Given the description of an element on the screen output the (x, y) to click on. 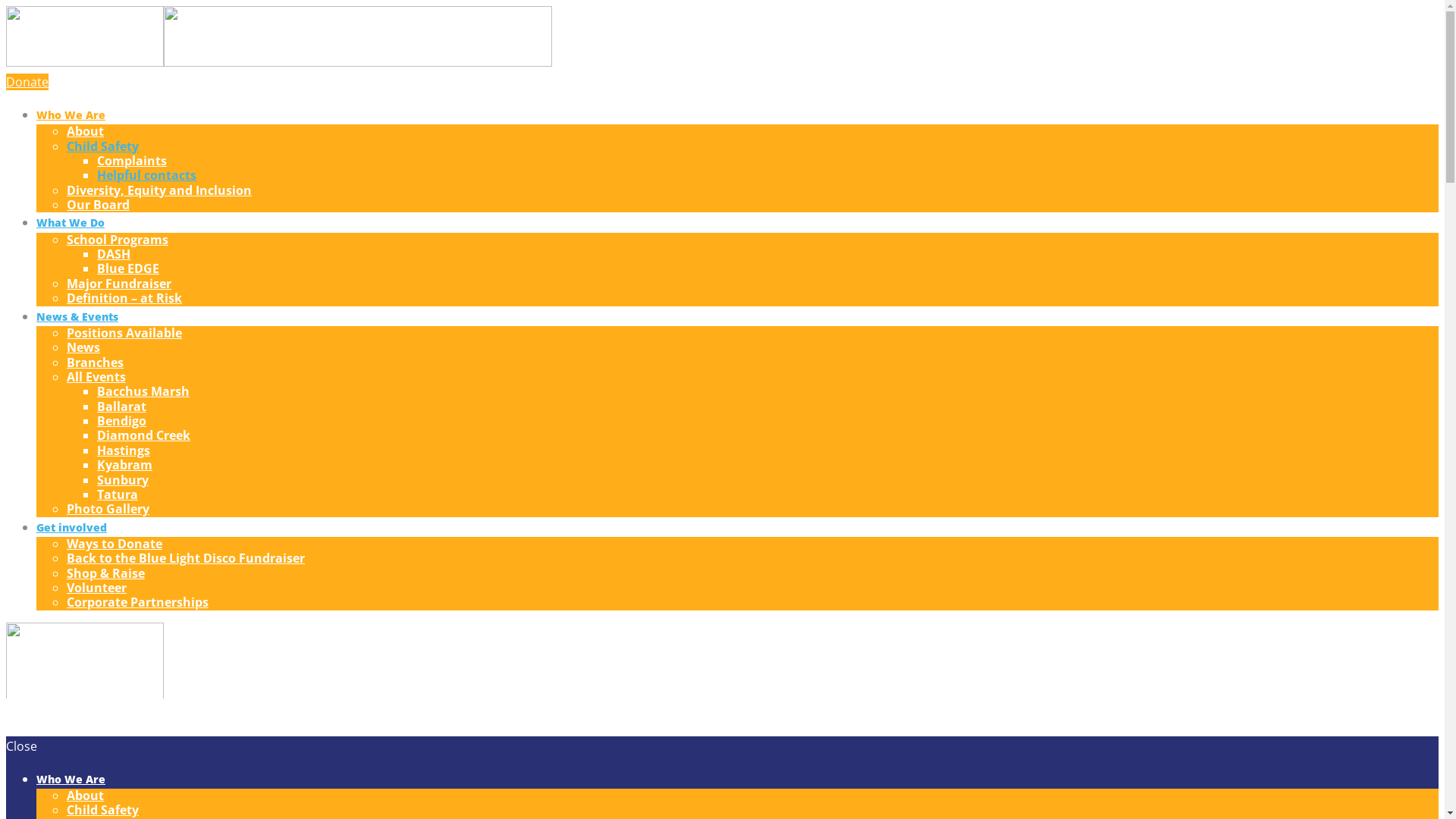
Bacchus Marsh Element type: text (143, 390)
Hastings Element type: text (123, 450)
Diversity, Equity and Inclusion Element type: text (158, 190)
Blue EDGE Element type: text (128, 268)
Who We Are Element type: text (70, 114)
Tatura Element type: text (117, 494)
Photo Gallery Element type: text (107, 508)
News Element type: text (83, 346)
DASH Element type: text (113, 253)
Ballarat Element type: text (121, 406)
Branches Element type: text (94, 362)
Volunteer Element type: text (96, 587)
Our Board Element type: text (97, 204)
Get involved Element type: text (71, 527)
Positions Available Element type: text (124, 332)
About Element type: text (84, 130)
Major Fundraiser Element type: text (118, 283)
News & Events Element type: text (77, 316)
Child Safety Element type: text (102, 809)
About Element type: text (84, 795)
Diamond Creek Element type: text (143, 434)
Donate Element type: text (27, 81)
Ways to Donate Element type: text (114, 543)
Shop & Raise Element type: text (105, 572)
Child Safety Element type: text (102, 146)
Who We Are Element type: text (70, 778)
School Programs Element type: text (117, 239)
Sunbury Element type: text (122, 479)
Back to the Blue Light Disco Fundraiser Element type: text (185, 557)
Helpful contacts Element type: text (146, 174)
All Events Element type: text (95, 376)
Kyabram Element type: text (124, 464)
Complaints Element type: text (131, 160)
What We Do Element type: text (70, 222)
Bendigo Element type: text (121, 420)
Corporate Partnerships Element type: text (137, 601)
